Given the description of an element on the screen output the (x, y) to click on. 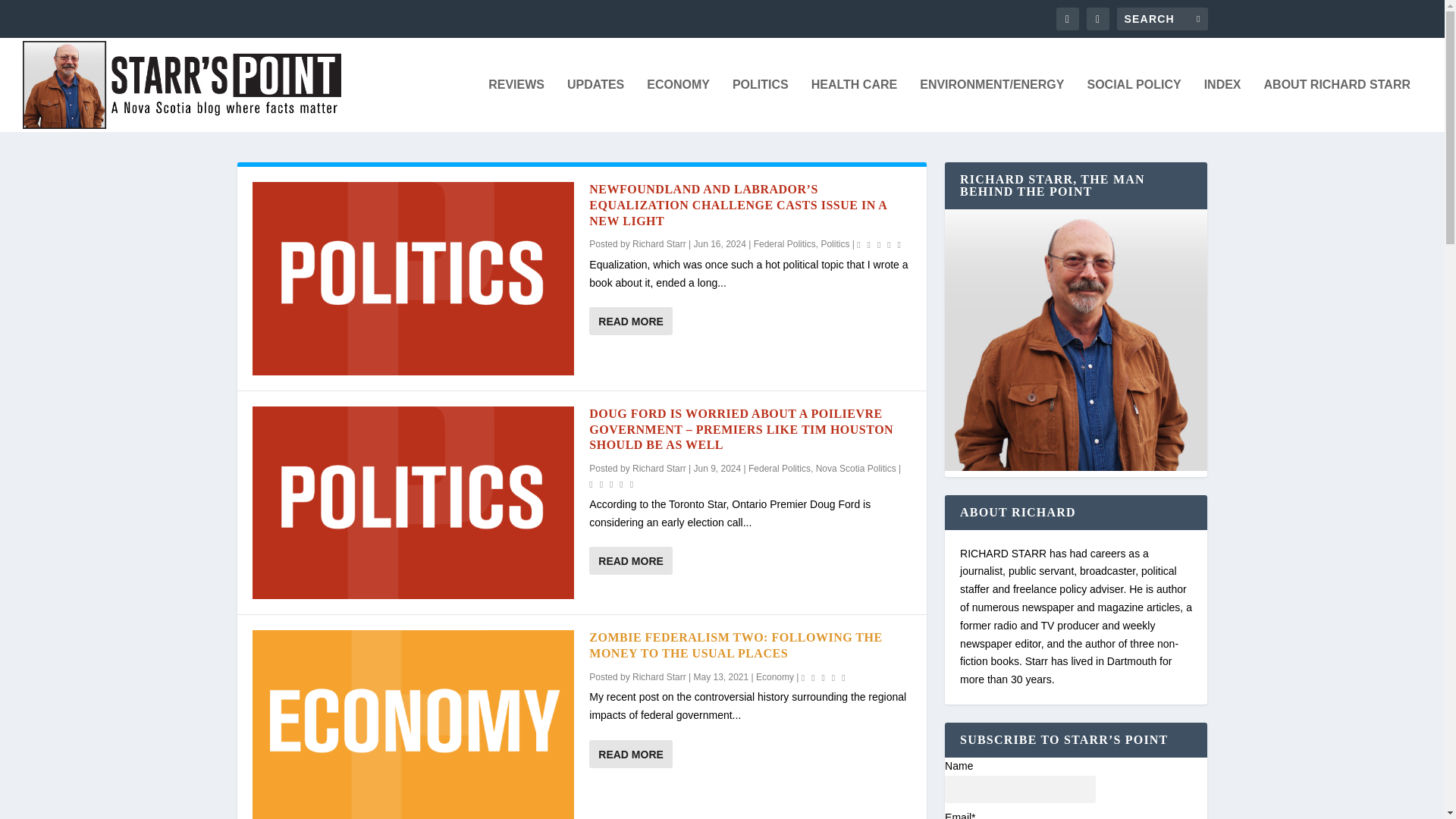
ECONOMY (678, 104)
POLITICS (760, 104)
HEALTH CARE (853, 104)
Search for: (1161, 18)
Posts by Richard Starr (658, 468)
Rating: 5.00 (613, 483)
Rating: 0.00 (825, 676)
REVIEWS (515, 104)
Richard Starr (658, 468)
